Given the description of an element on the screen output the (x, y) to click on. 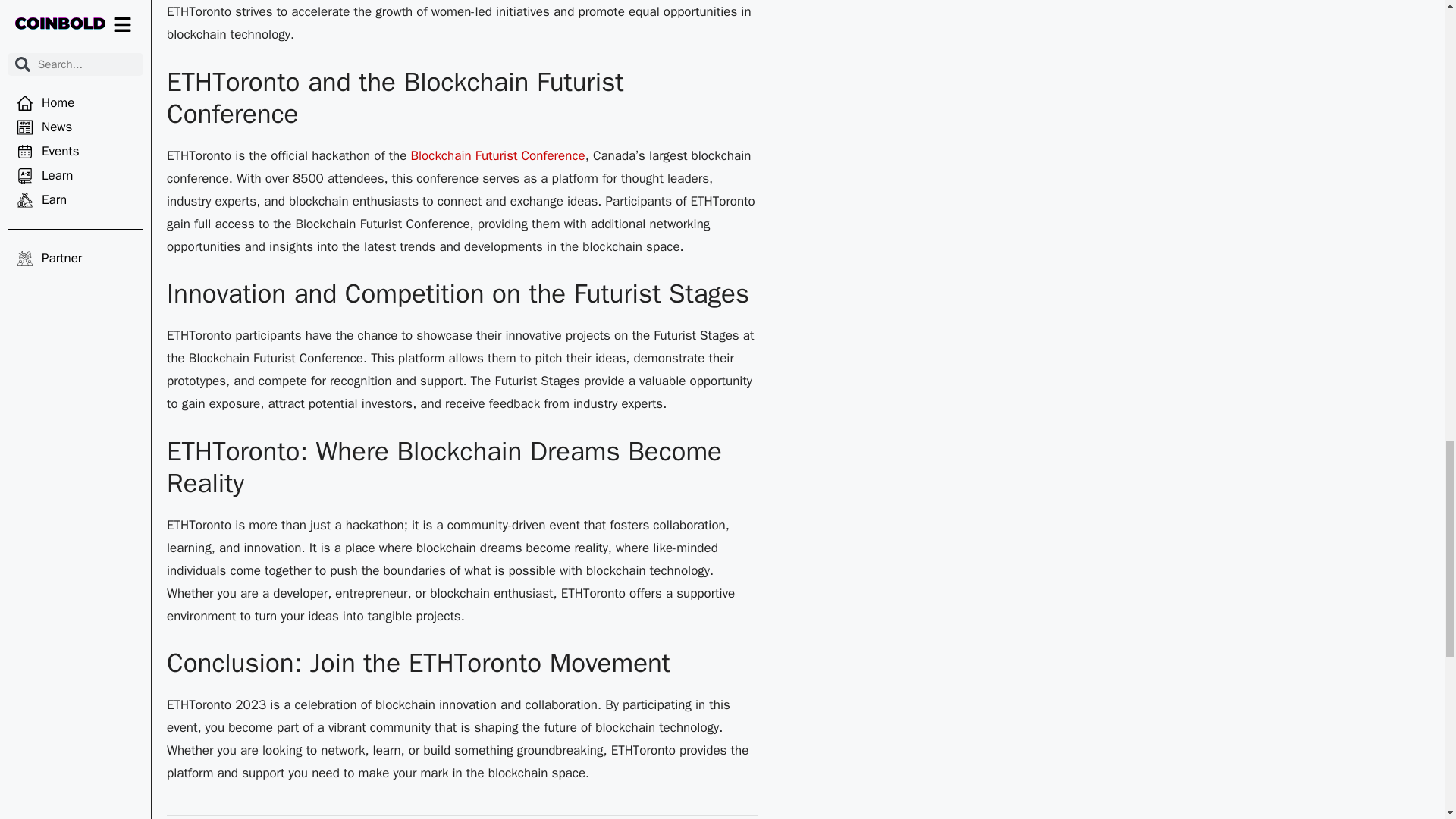
Blockchain Futurist Conference (497, 154)
